Given the description of an element on the screen output the (x, y) to click on. 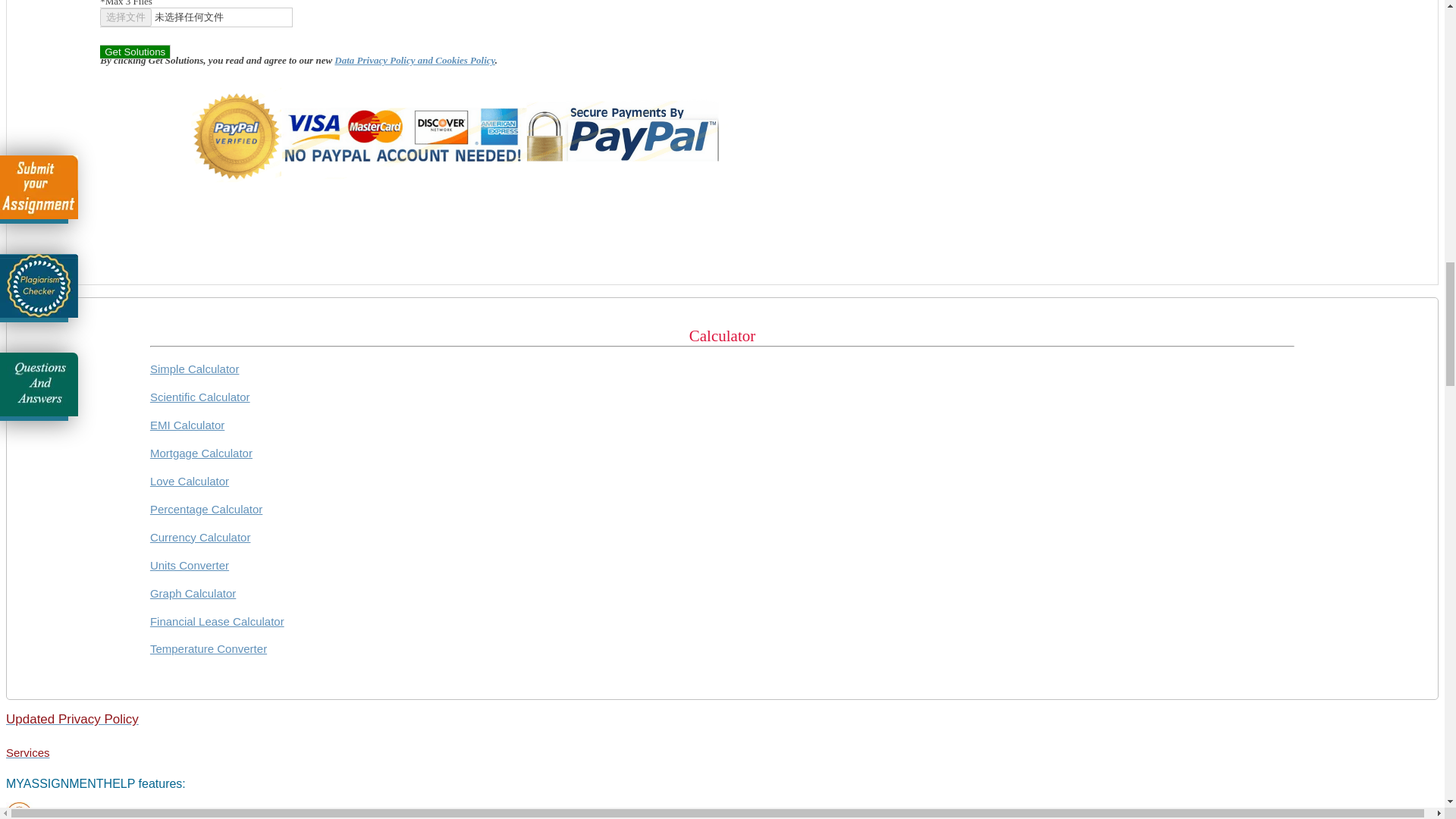
Get Solutions (135, 51)
Get Solutions (135, 51)
Scientific Calculator (199, 396)
EMI Calculator (186, 424)
Data Privacy Policy and Cookies Policy (414, 60)
EMI Calculator (186, 424)
Simple Calculator (194, 368)
Mortgage Calculator (200, 452)
Scientific Calculator (199, 396)
Love Calculator (188, 481)
Simple Calculator (194, 368)
Data Privacy Policy and Cookies Policy (414, 60)
